Given the description of an element on the screen output the (x, y) to click on. 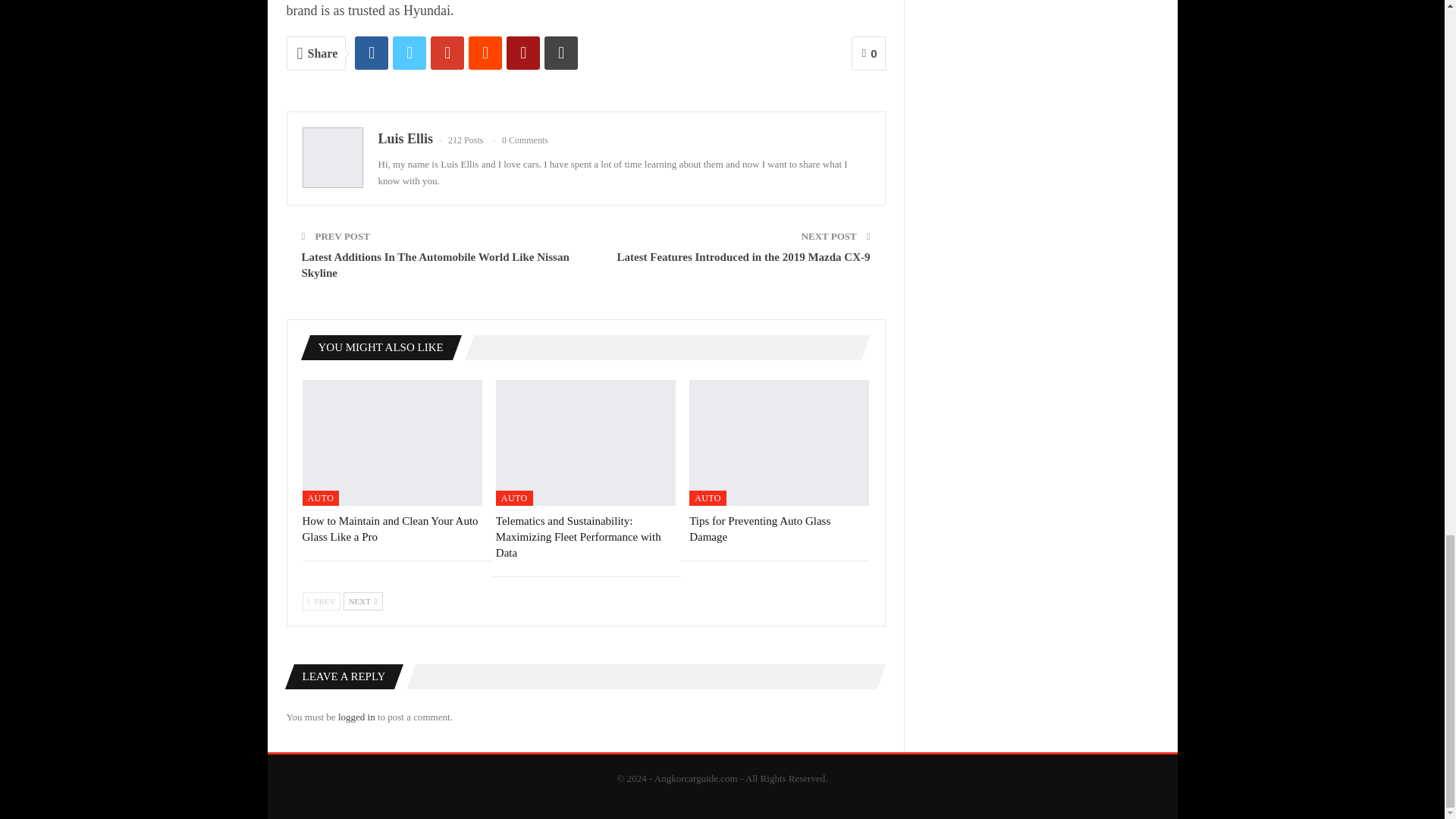
How to Maintain and Clean Your Auto Glass Like a Pro (389, 528)
How to Maintain and Clean Your Auto Glass Like a Pro (391, 443)
Tips for Preventing Auto Glass Damage (758, 528)
Tips for Preventing Auto Glass Damage (778, 443)
0 (868, 53)
